Given the description of an element on the screen output the (x, y) to click on. 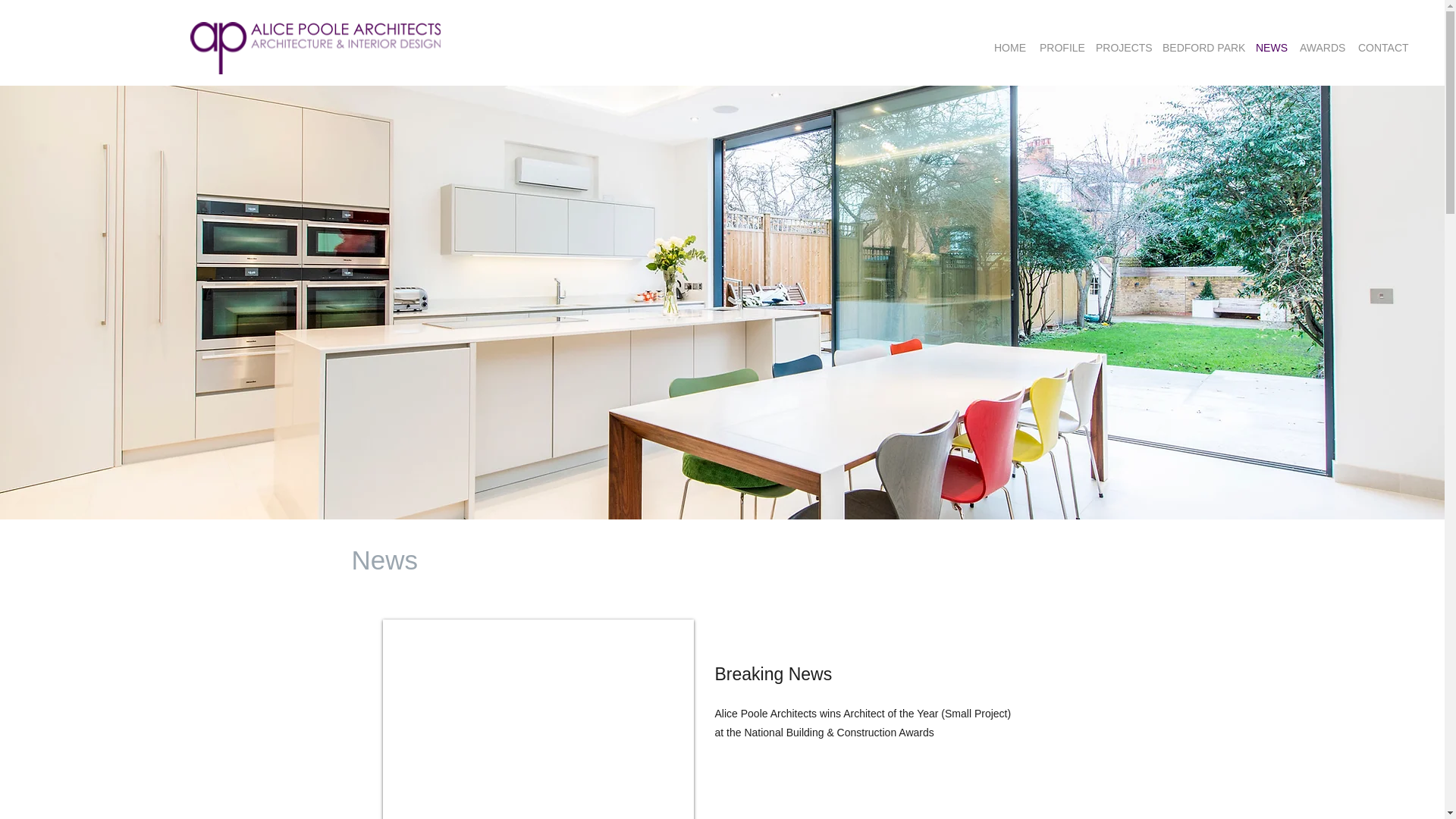
HOME (1009, 47)
PROJECTS (1120, 47)
AWARDS (1321, 47)
PROFILE (1059, 47)
BEDFORD PARK (1200, 47)
NEWS (1269, 47)
CONTACT (1382, 47)
